Given the description of an element on the screen output the (x, y) to click on. 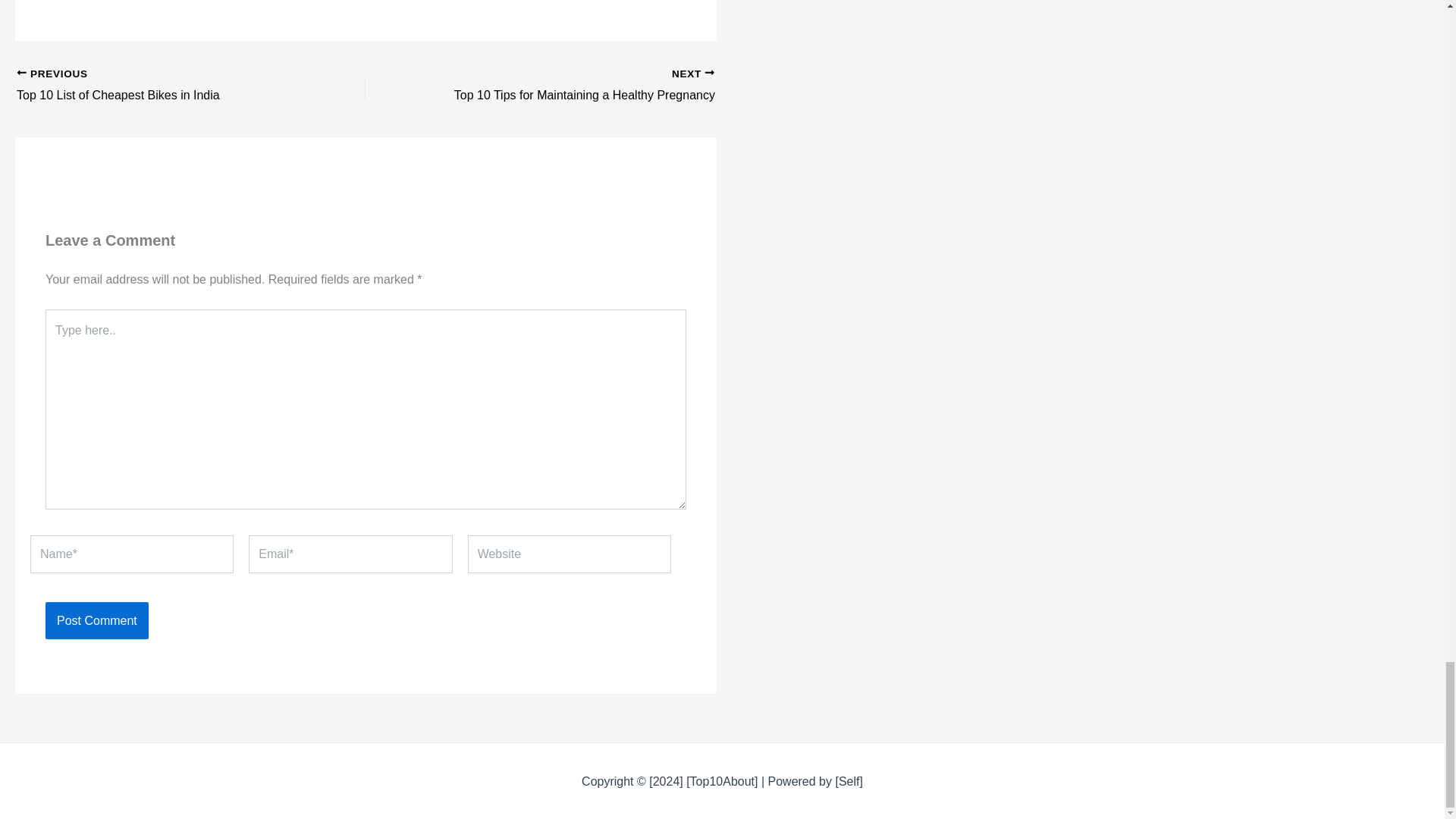
Top 10 List of Cheapest Bikes in India (156, 86)
Top 10 Tips for Maintaining a Healthy Pregnancy (156, 86)
Post Comment (573, 86)
